Given the description of an element on the screen output the (x, y) to click on. 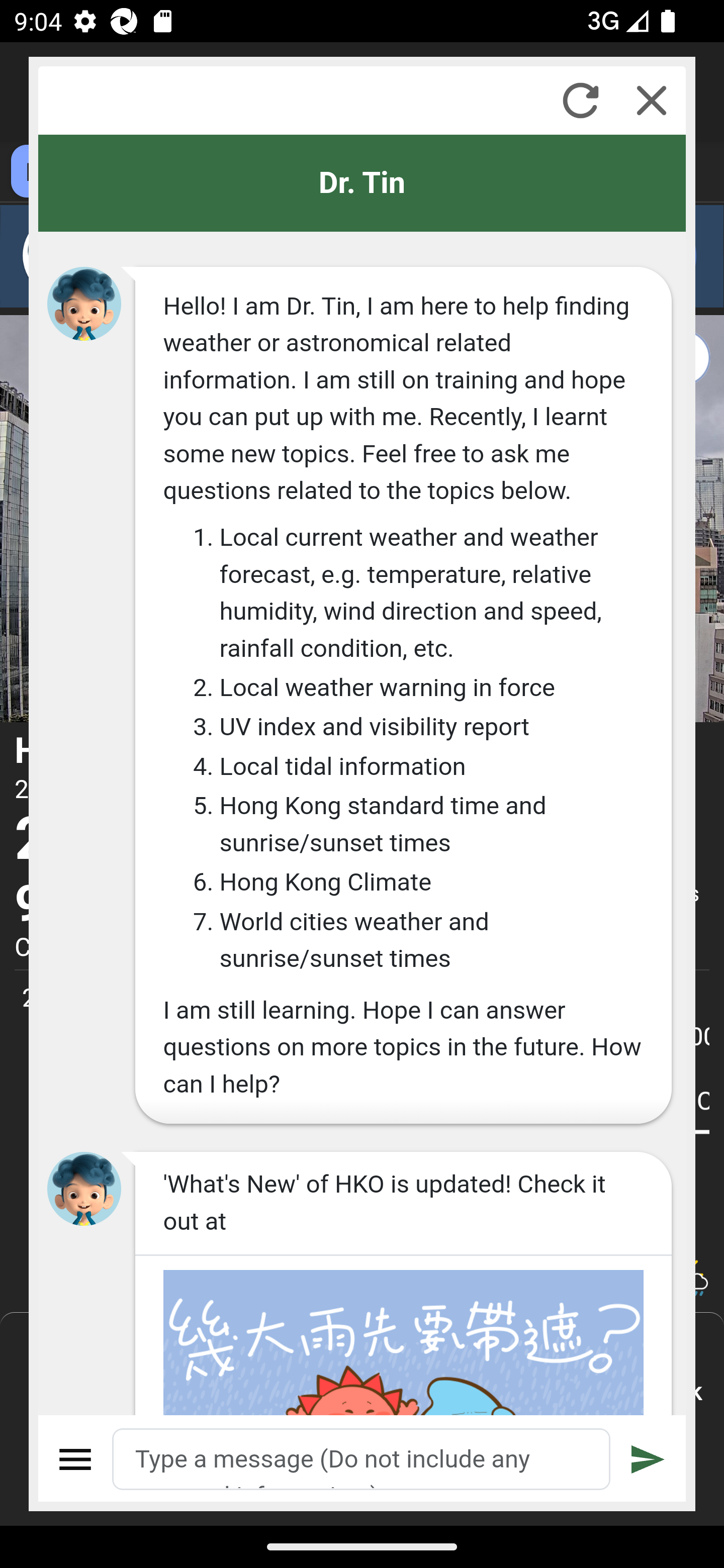
Refresh (580, 100)
Close (651, 100)
Menu (75, 1458)
Submit (648, 1458)
